Given the description of an element on the screen output the (x, y) to click on. 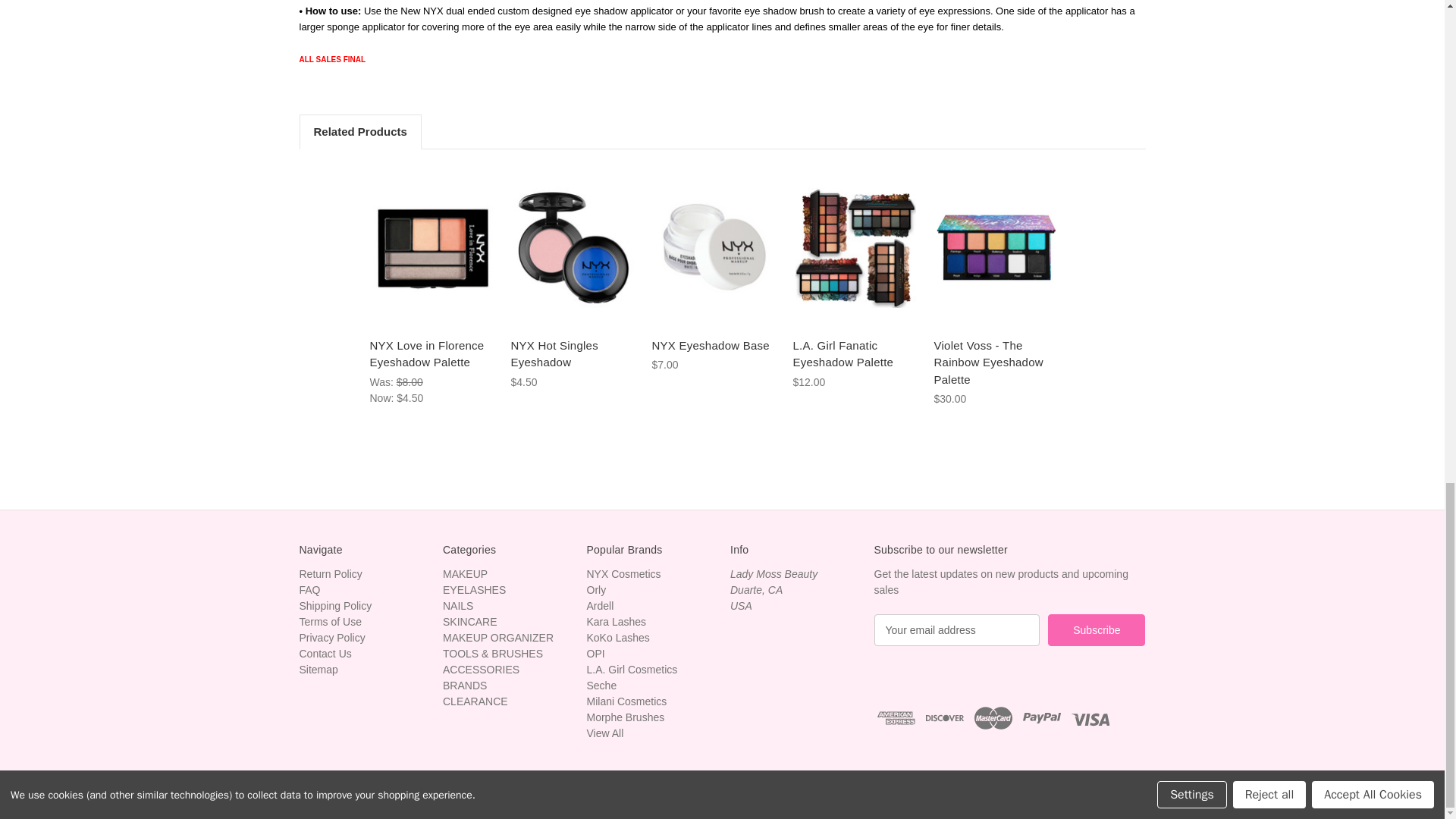
L.A. Girl Fanatic Eyeshadow Palette (854, 247)
NYX Hot Singles Eyeshadow HS image picture swatch (572, 247)
Subscribe (1096, 630)
NYX Love in Florence Eyeshadow Palette (431, 247)
NYX Eyeshadow Base (713, 247)
